Given the description of an element on the screen output the (x, y) to click on. 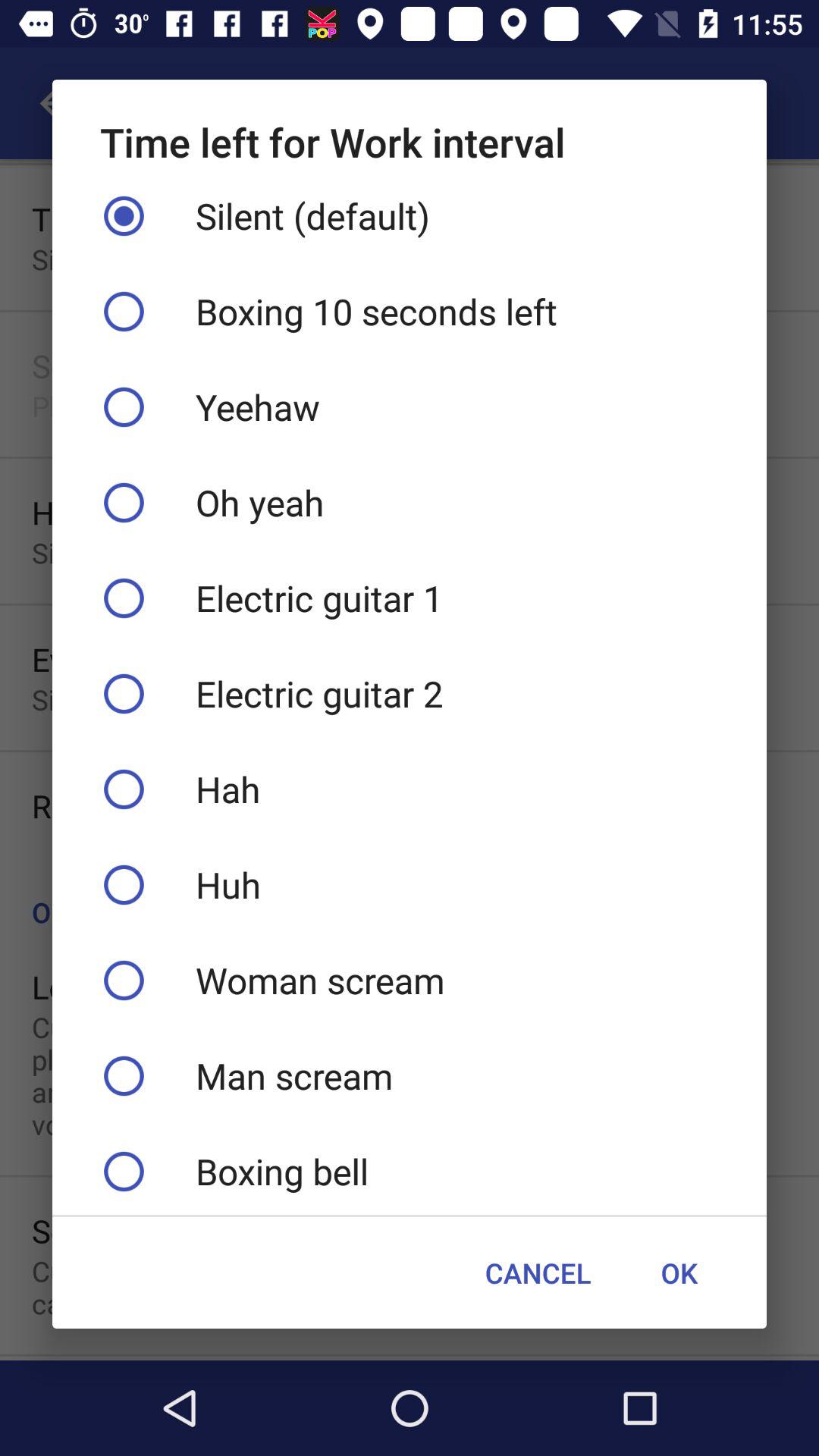
scroll to the ok icon (678, 1272)
